Given the description of an element on the screen output the (x, y) to click on. 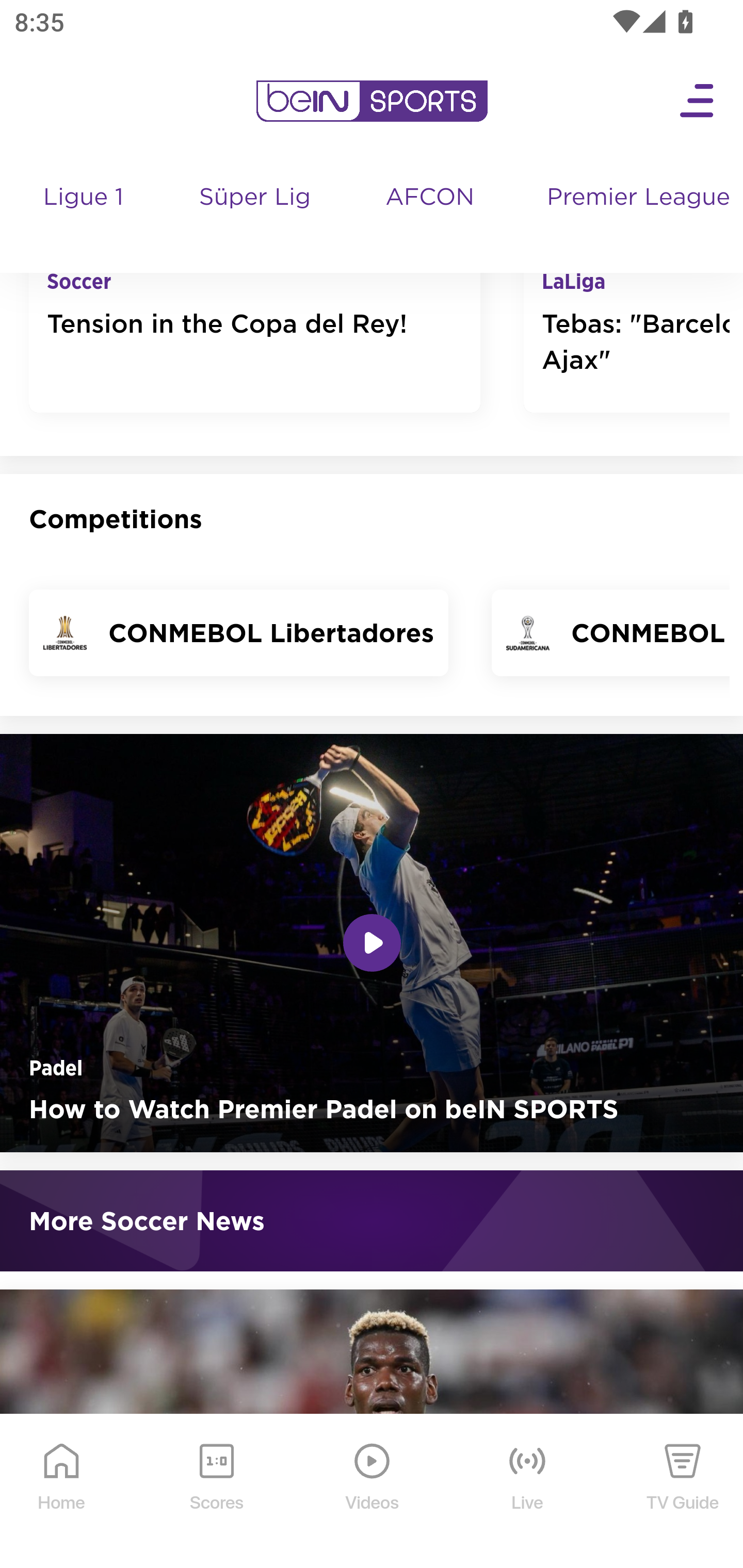
en-us?platform=mobile_android bein logo (371, 101)
Open Menu Icon (697, 101)
Ligue 1 (84, 216)
Süper Lig (256, 216)
AFCON (429, 198)
Premier League (637, 198)
Home Home Icon Home (61, 1491)
Scores Scores Icon Scores (216, 1491)
Videos Videos Icon Videos (372, 1491)
TV Guide TV Guide Icon TV Guide (682, 1491)
